Given the description of an element on the screen output the (x, y) to click on. 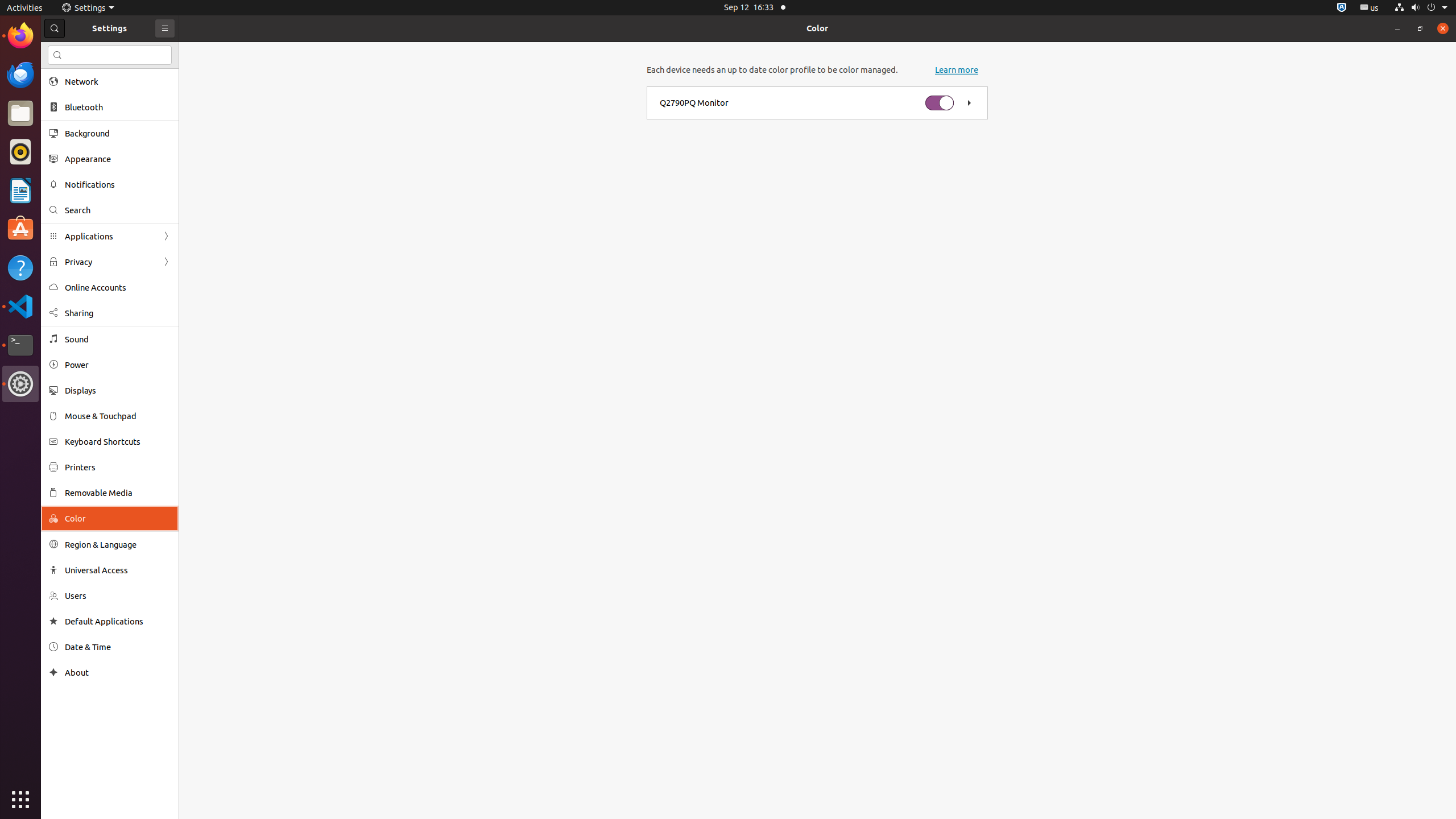
Search Element type: text (109, 54)
Settings Element type: menu (87, 7)
Background Element type: label (117, 133)
Default Applications Element type: label (117, 621)
